Given the description of an element on the screen output the (x, y) to click on. 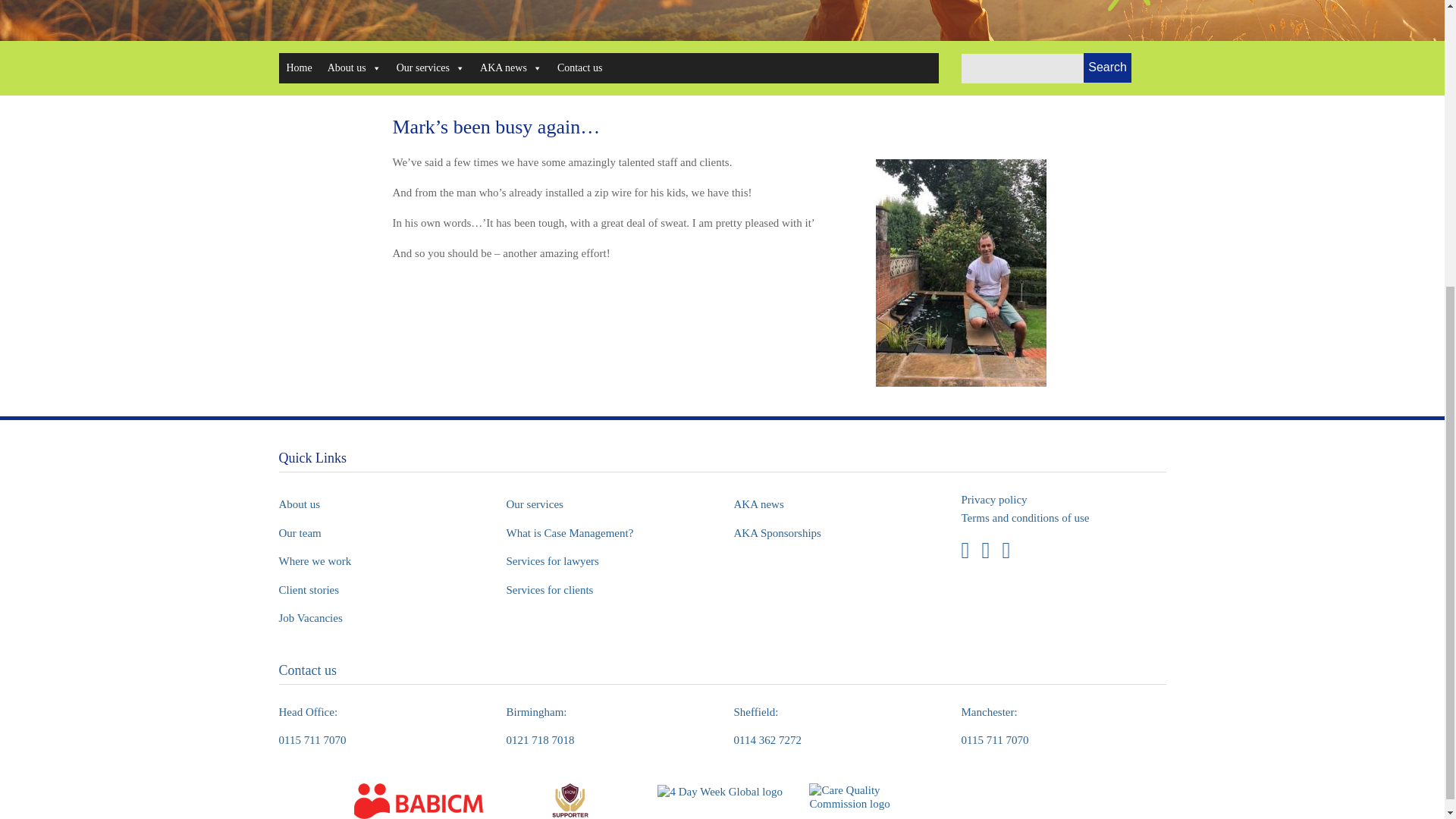
Job Vacancies (310, 618)
About us (299, 504)
Search (1107, 67)
Our services (429, 68)
What is Case Management? (569, 533)
AKA news (758, 504)
Our team (300, 533)
Home (299, 68)
About us (354, 68)
AKA news (510, 68)
Services for lawyers (552, 561)
Where we work (315, 561)
Client stories (309, 589)
Our services (534, 504)
Contact us (580, 68)
